Given the description of an element on the screen output the (x, y) to click on. 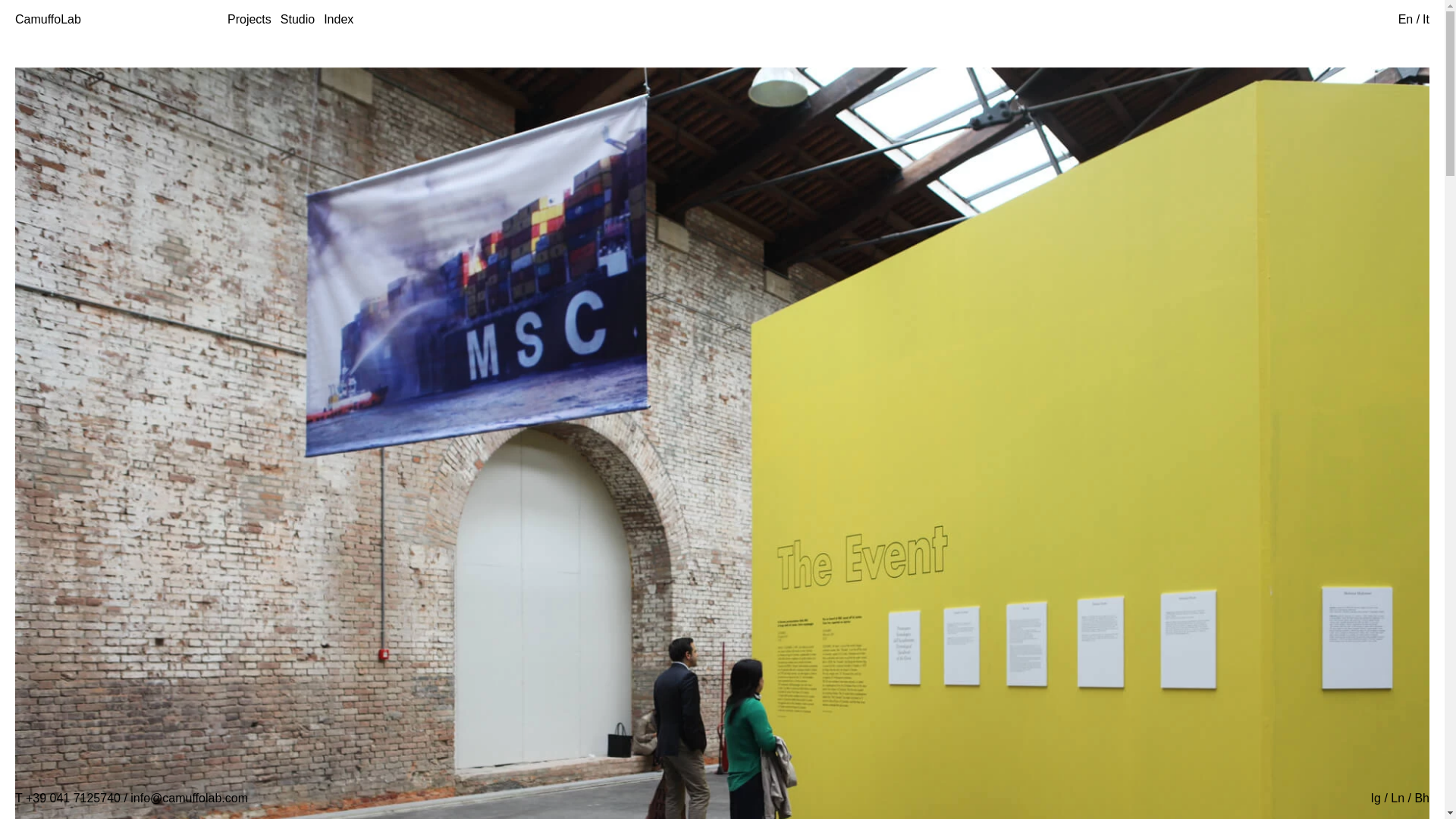
CamuffoLab (47, 19)
En (1406, 19)
Studio (297, 19)
Index (338, 19)
Projects (248, 19)
Ln (1397, 797)
Bh (1421, 797)
